Given the description of an element on the screen output the (x, y) to click on. 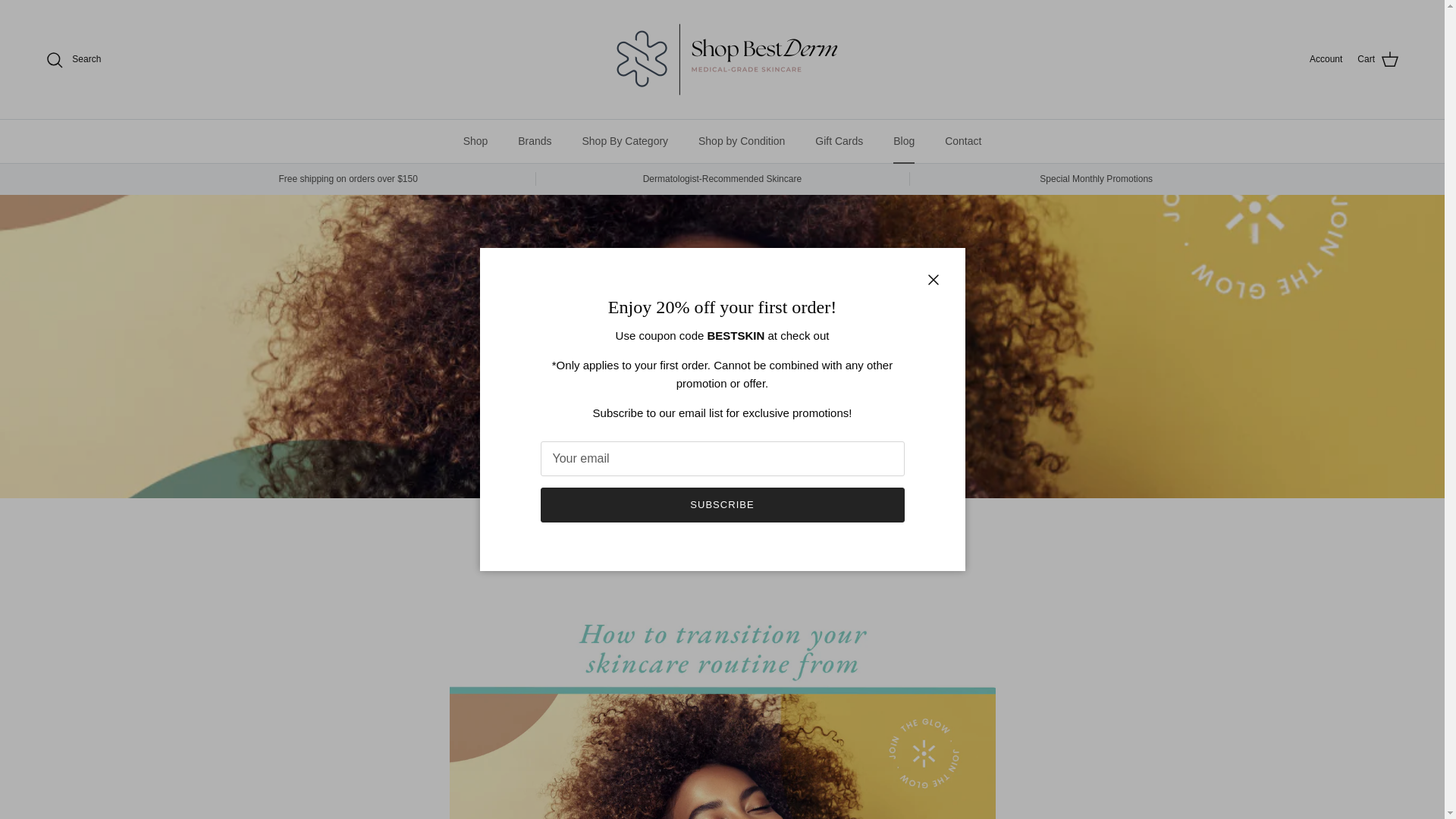
Shop (475, 140)
Cart (1377, 59)
Shop BestDerm (721, 59)
Search (72, 58)
Account (1325, 59)
Shop By Category (624, 140)
Shop by Condition (740, 140)
Brands (533, 140)
